Given the description of an element on the screen output the (x, y) to click on. 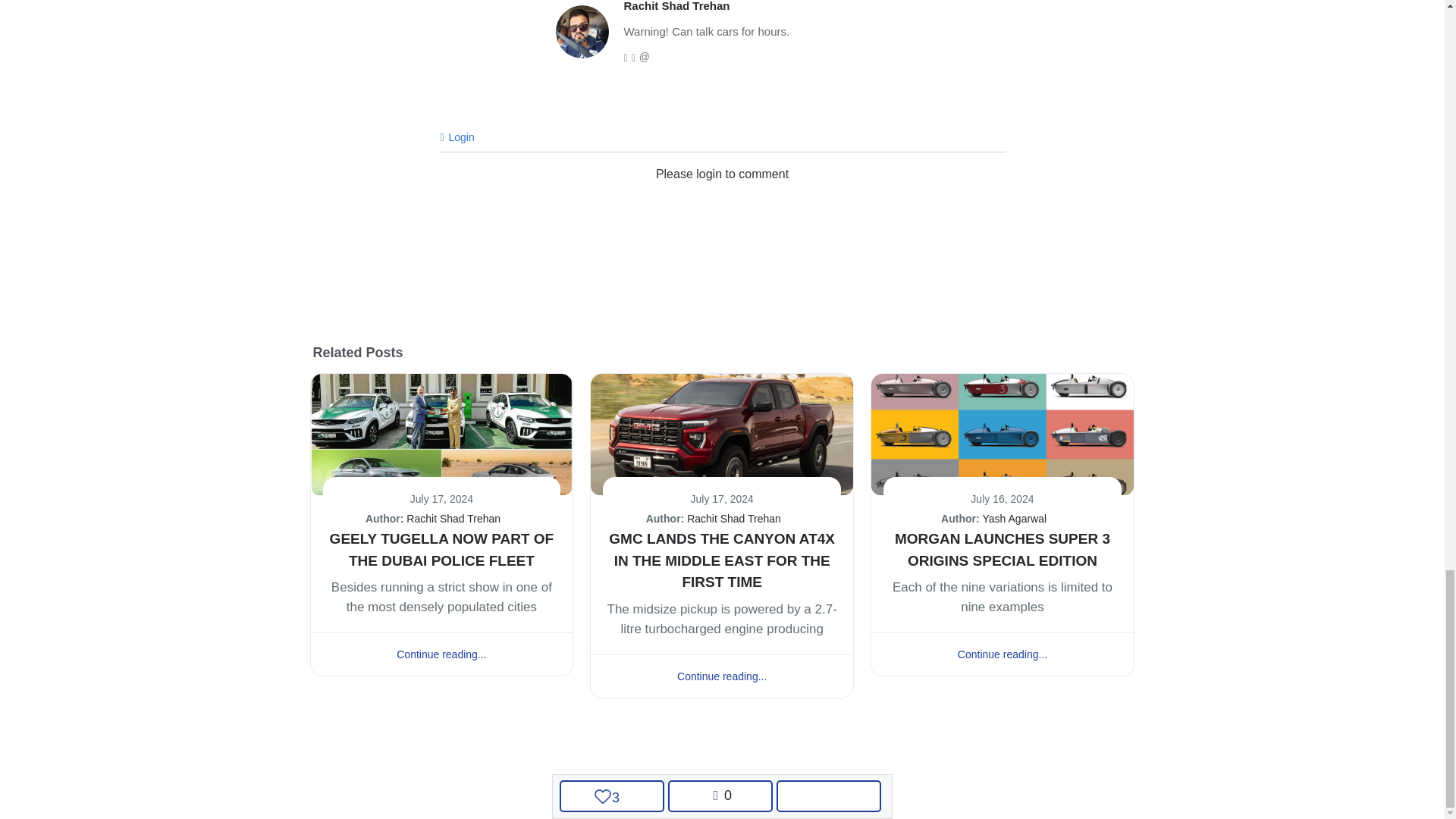
0 (720, 796)
